Given the description of an element on the screen output the (x, y) to click on. 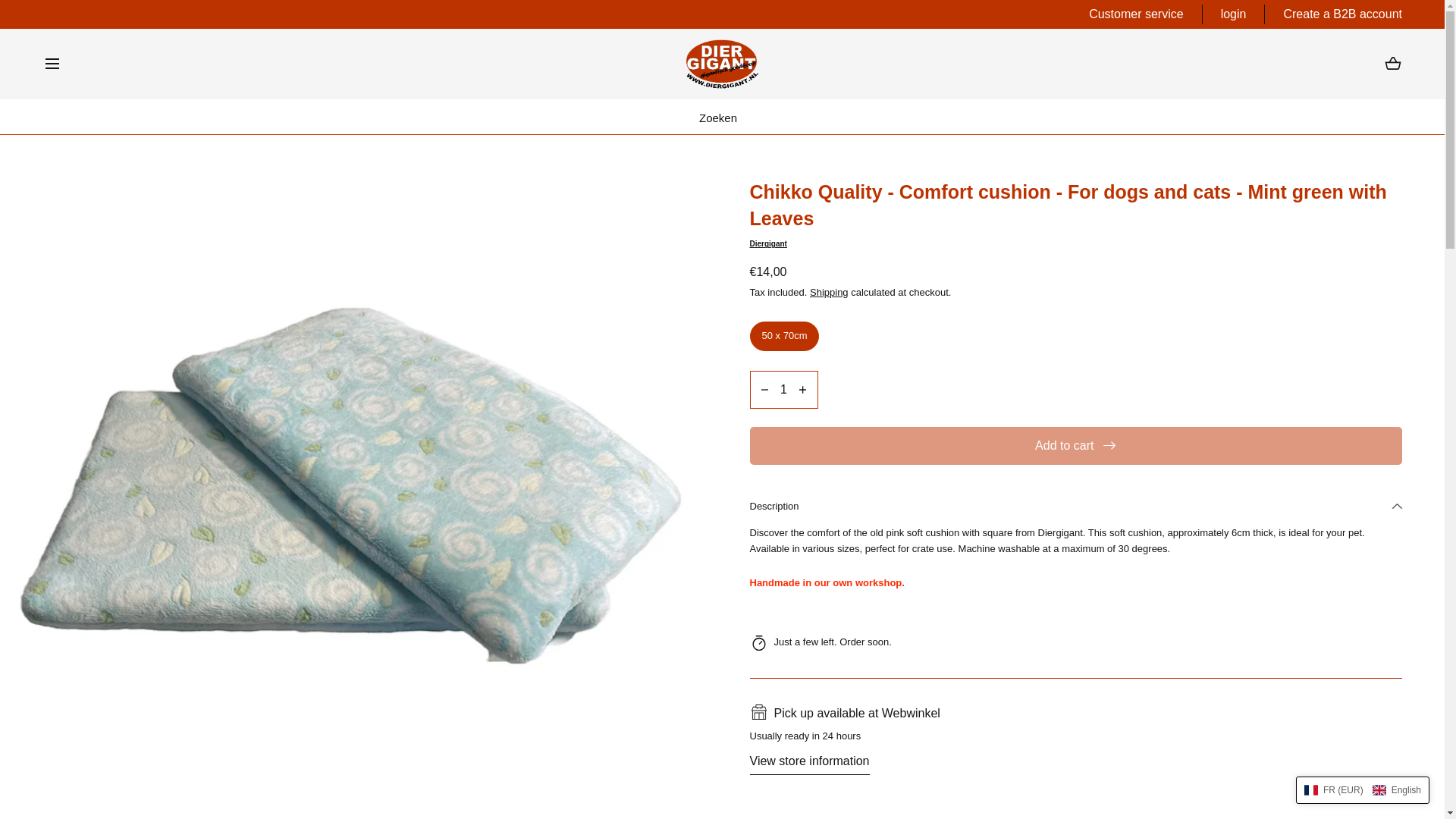
login (1233, 14)
1 (782, 389)
Diergigant (721, 63)
Customer service (1135, 14)
Create a B2B account (1342, 14)
SKIP TO CONTENT (80, 18)
Diergigant (1075, 244)
